Given the description of an element on the screen output the (x, y) to click on. 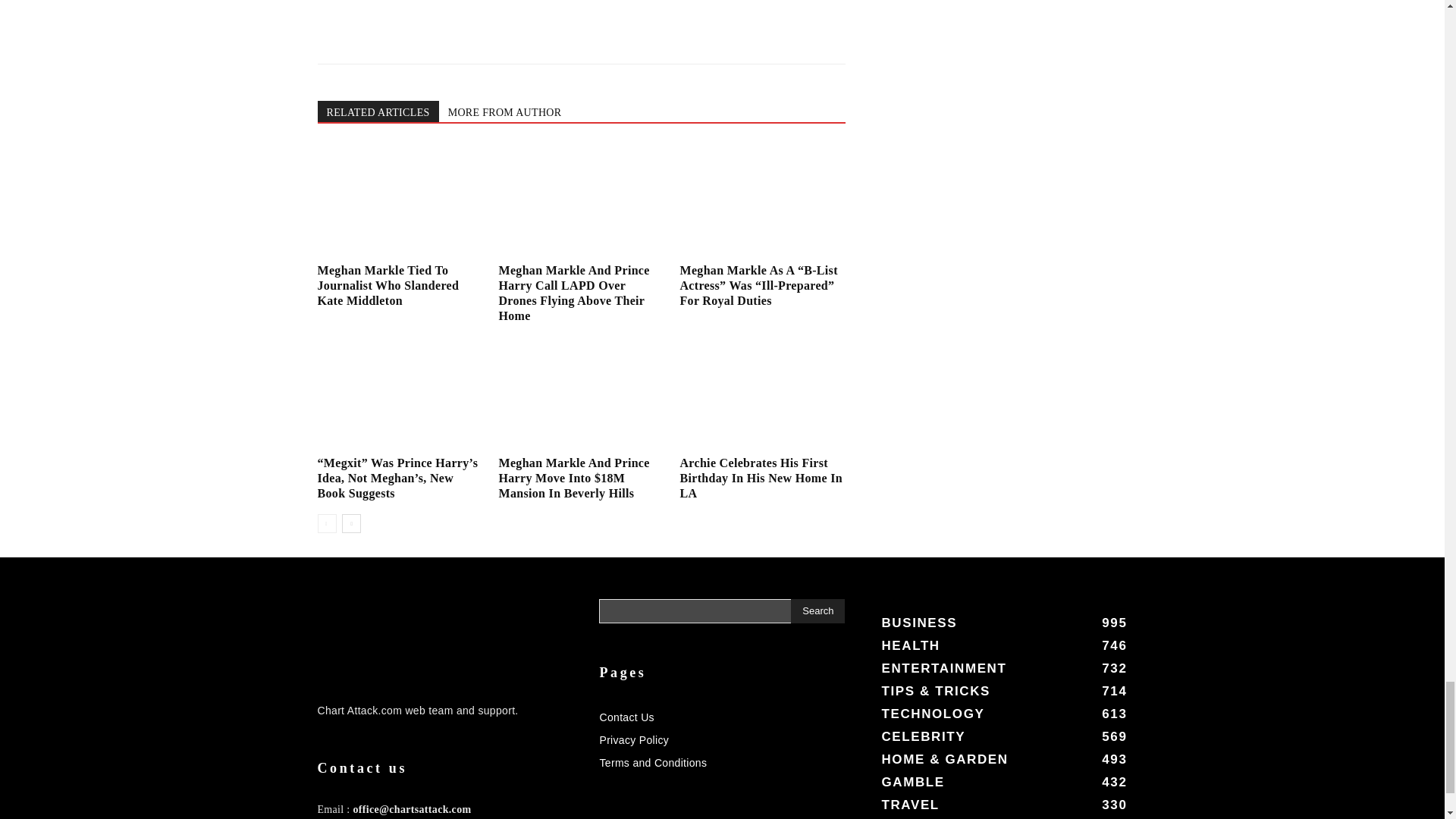
Search (817, 610)
